Given the description of an element on the screen output the (x, y) to click on. 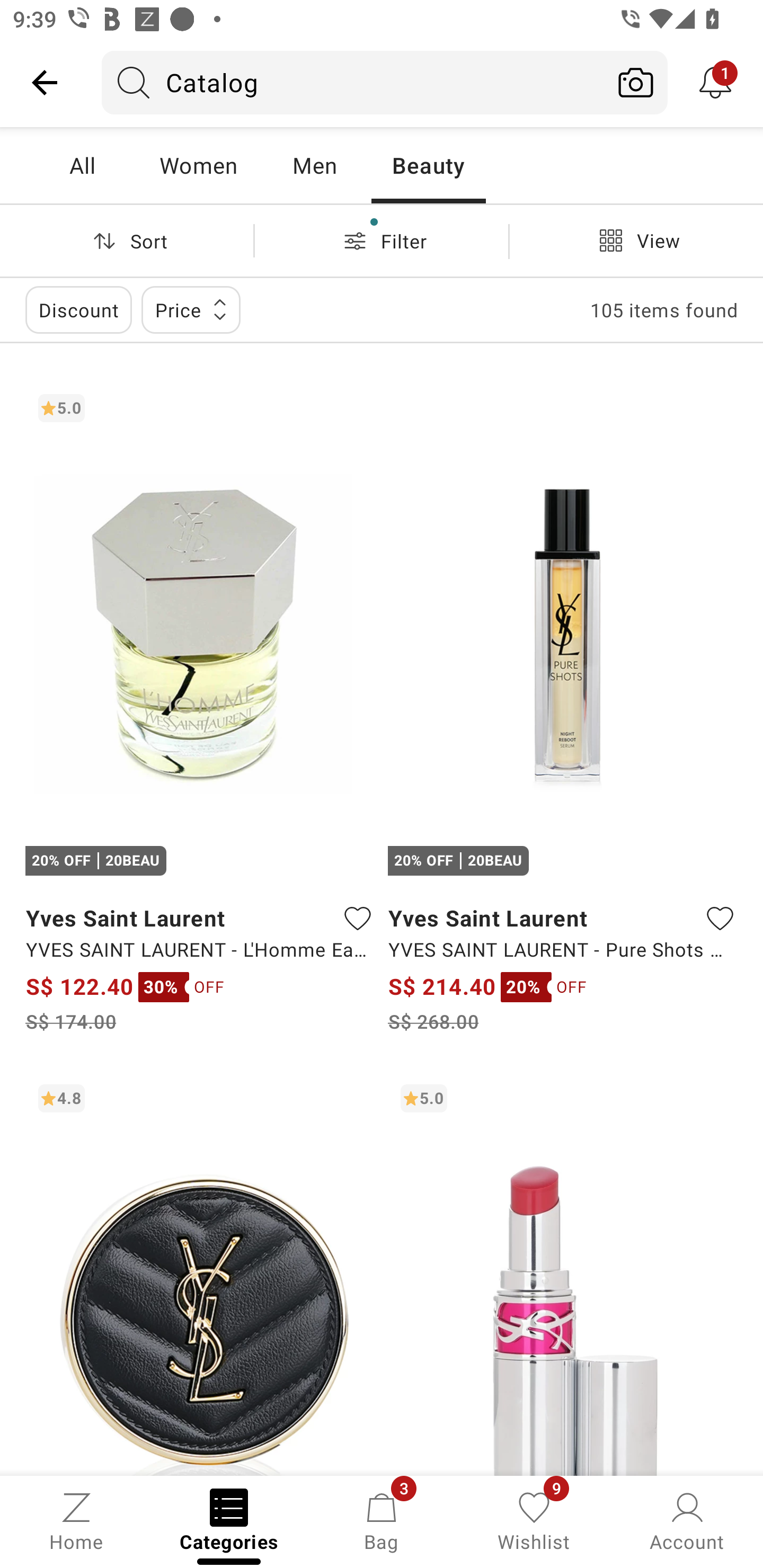
Navigate up (44, 82)
Catalog (352, 82)
All (82, 165)
Women (198, 165)
Men (314, 165)
Sort (126, 240)
Filter (381, 240)
View (636, 240)
Discount (78, 309)
Price (190, 309)
4.8 (200, 1272)
5.0 (562, 1272)
Home (76, 1519)
Bag, 3 new notifications Bag (381, 1519)
Wishlist, 9 new notifications Wishlist (533, 1519)
Account (686, 1519)
